Given the description of an element on the screen output the (x, y) to click on. 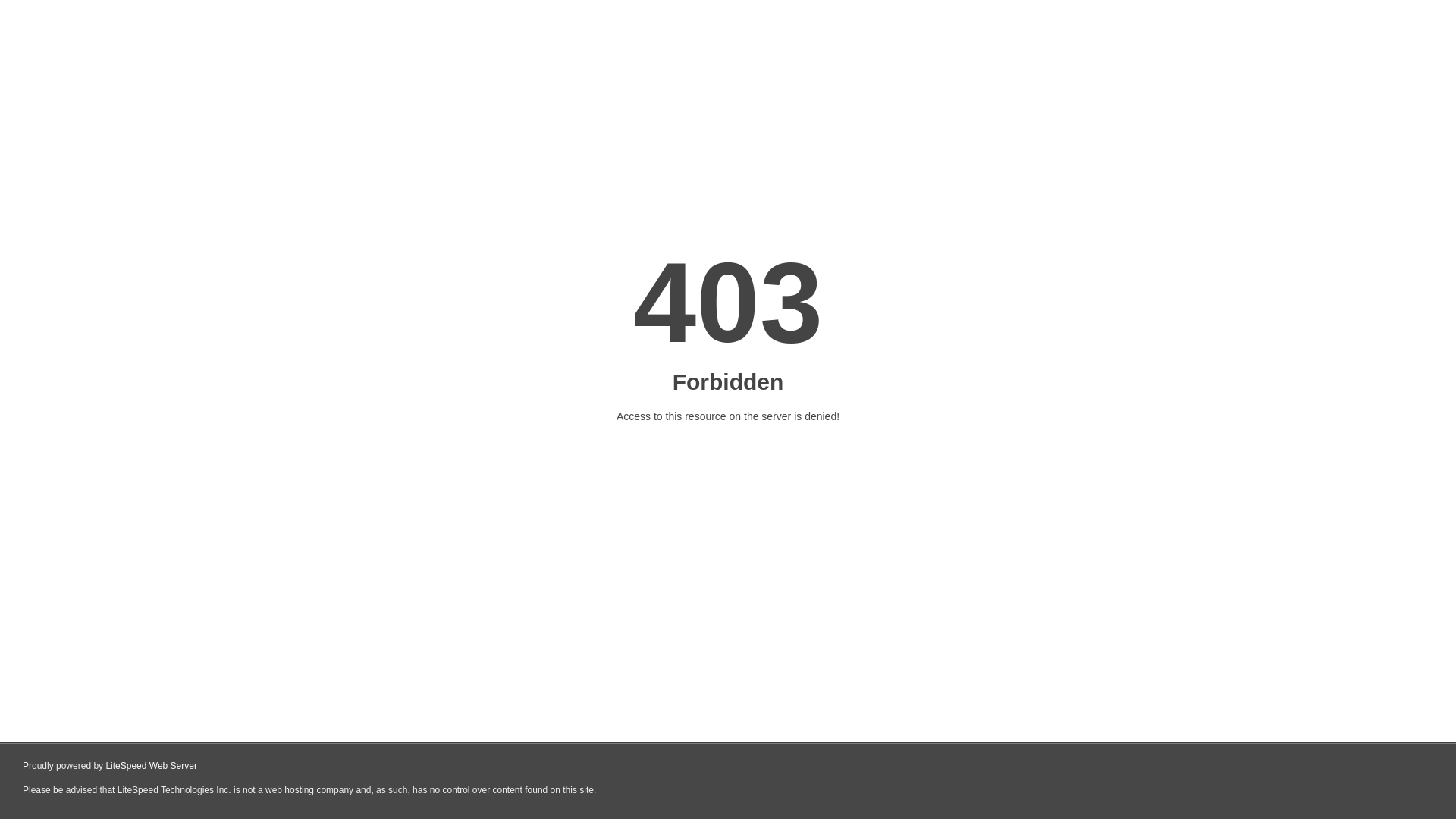
LiteSpeed Web Server Element type: text (151, 765)
